Given the description of an element on the screen output the (x, y) to click on. 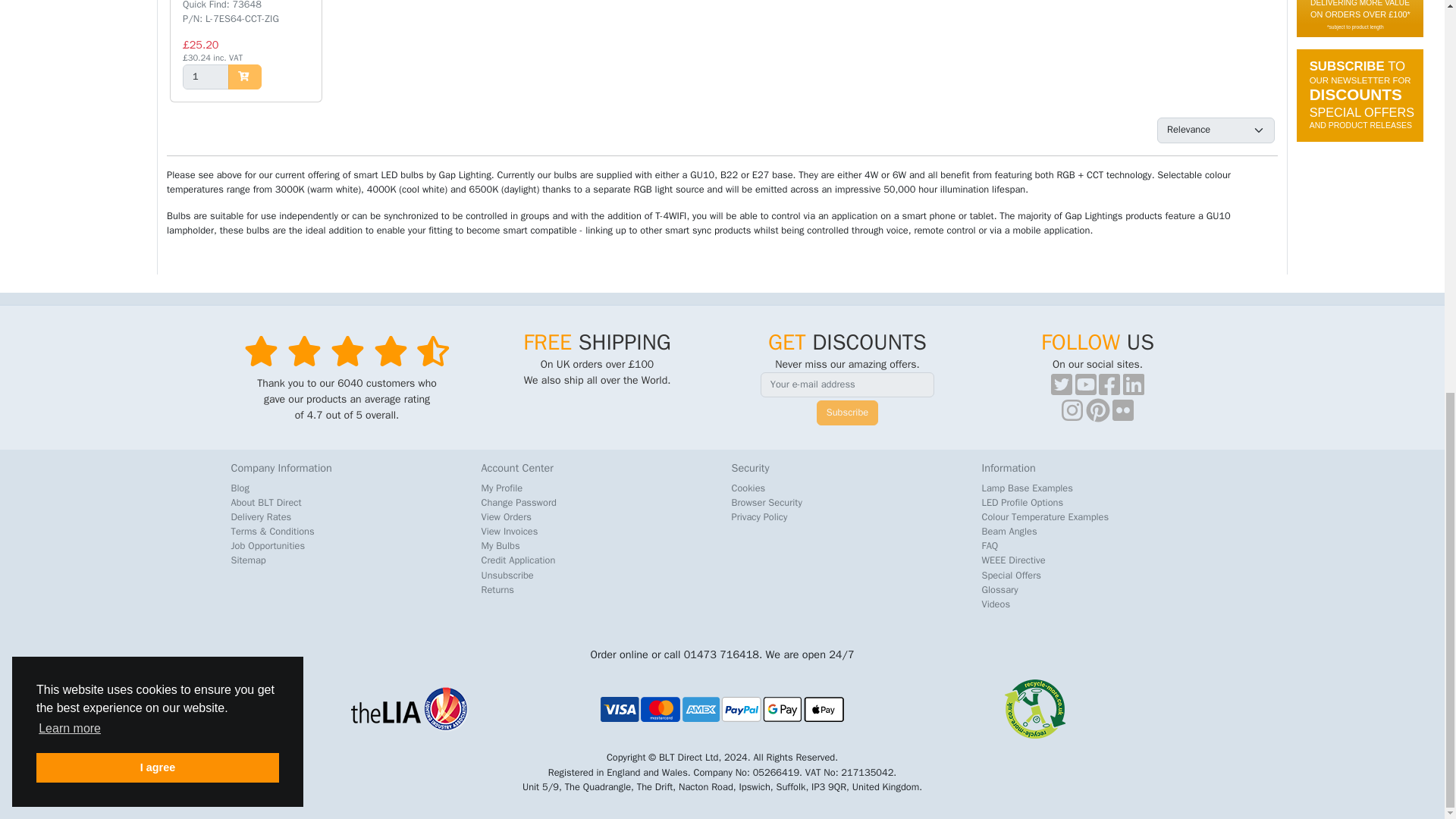
1 (205, 76)
I agree (157, 13)
